Given the description of an element on the screen output the (x, y) to click on. 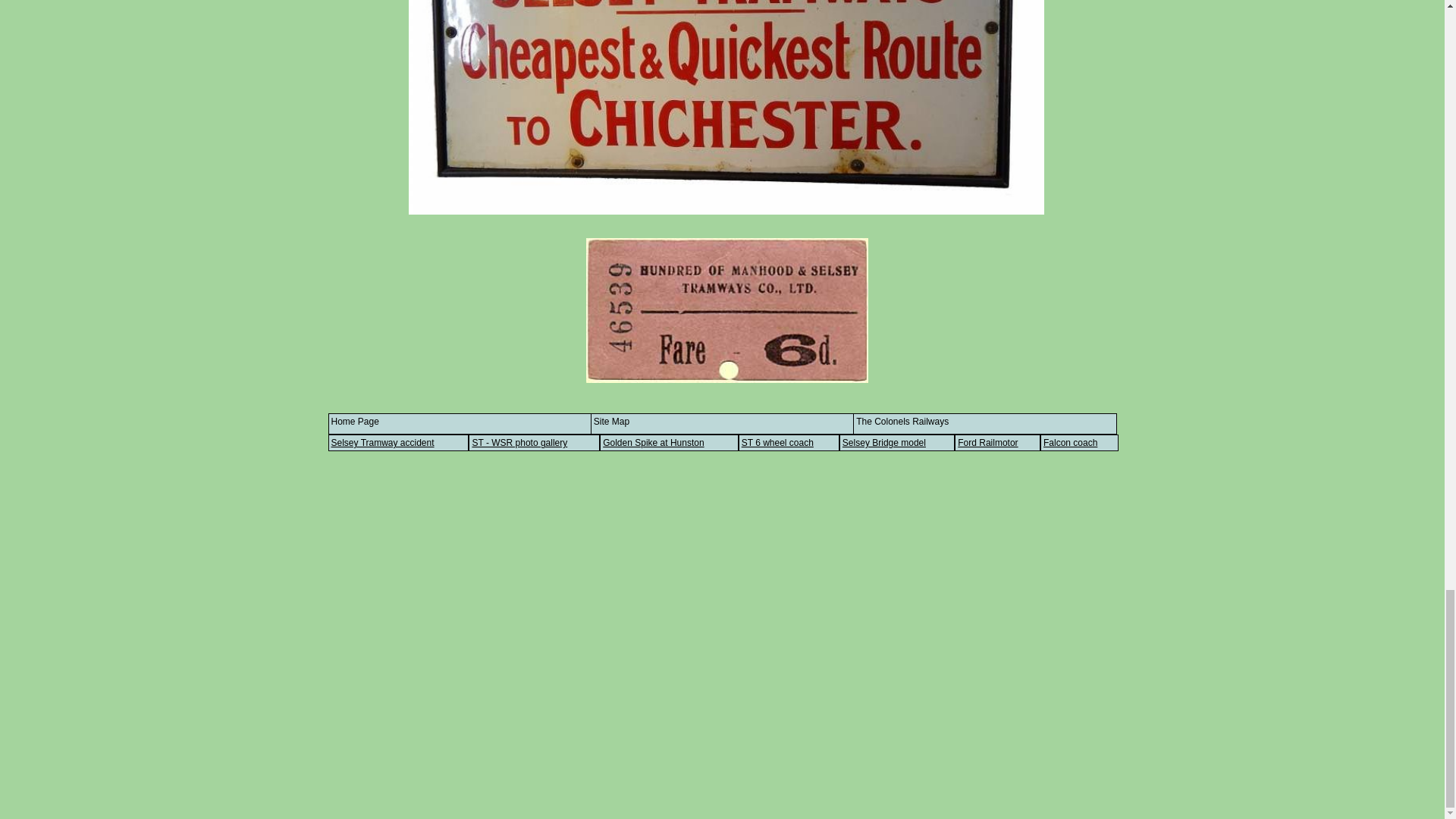
Falcon coach (1079, 442)
The Colonels Railways (902, 421)
Ford Railmotor (998, 442)
Site Map (611, 421)
Selsey Bridge model (897, 442)
Golden Spike at Hunston (668, 442)
Home Page (354, 421)
ST - WSR photo gallery (533, 442)
ST 6 wheel coach (789, 442)
Selsey Tramway accident (397, 442)
